Given the description of an element on the screen output the (x, y) to click on. 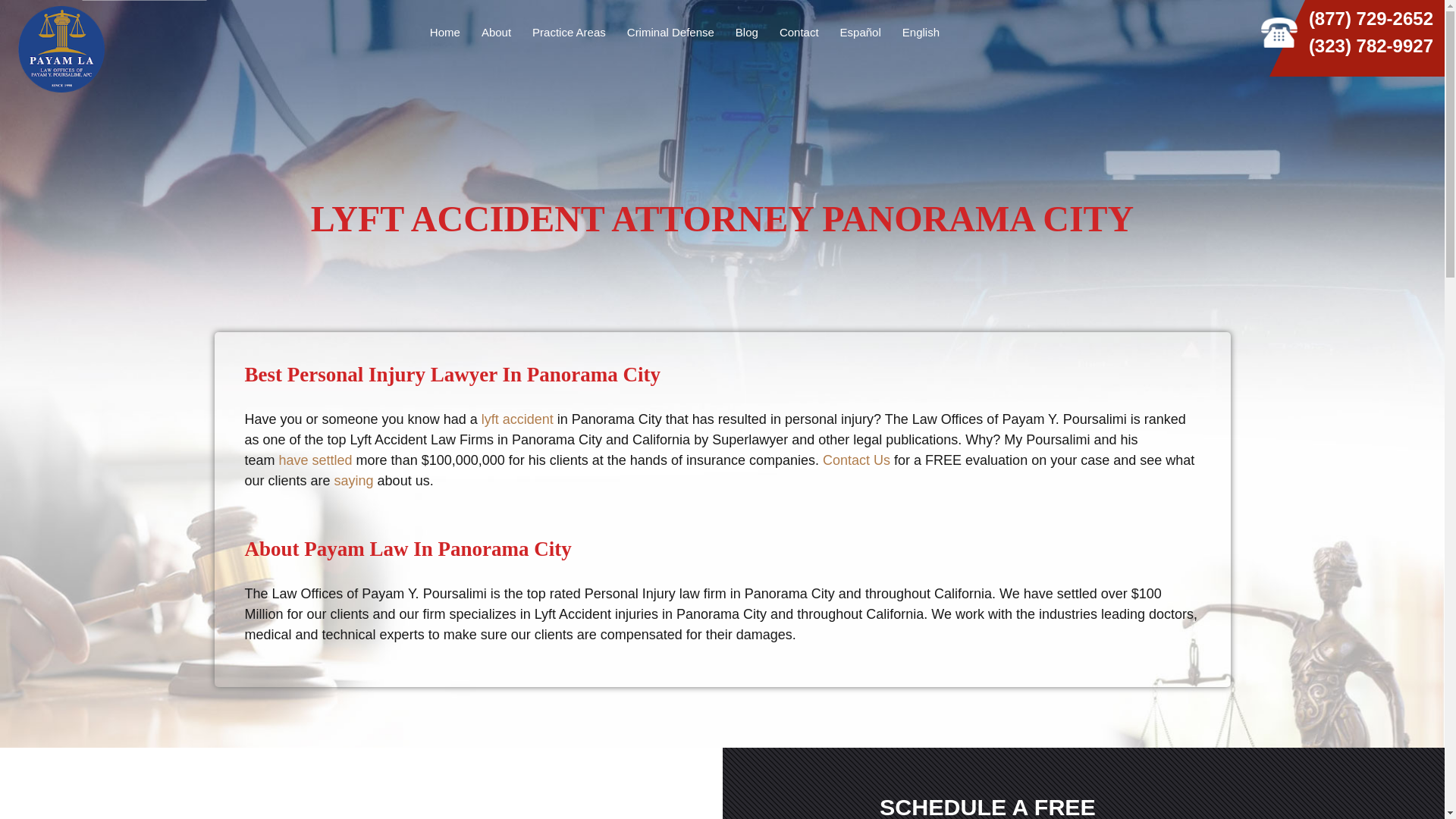
Criminal Defense (670, 31)
Practice Areas (568, 31)
